Given the description of an element on the screen output the (x, y) to click on. 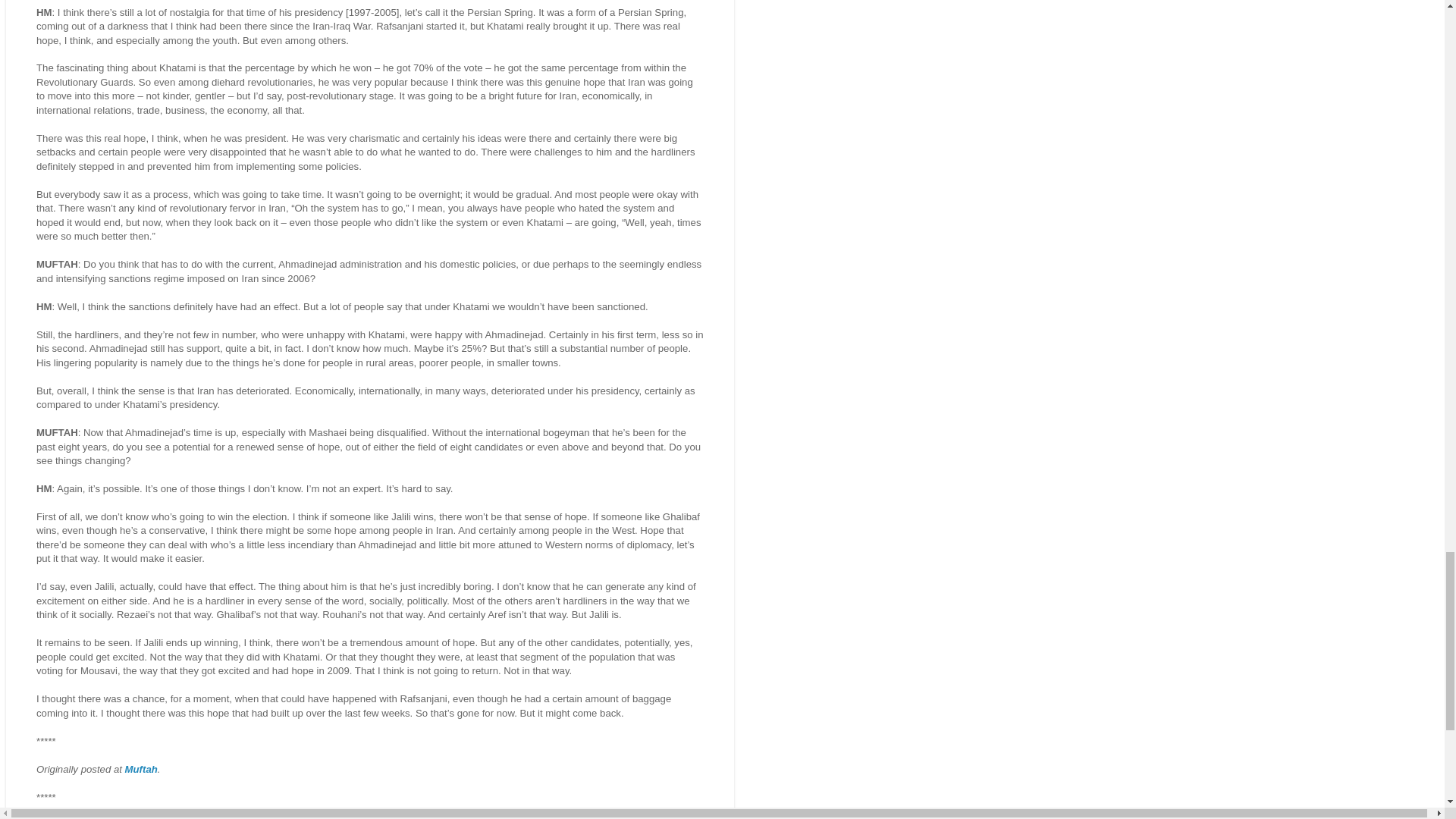
Muftah (141, 768)
